Given the description of an element on the screen output the (x, y) to click on. 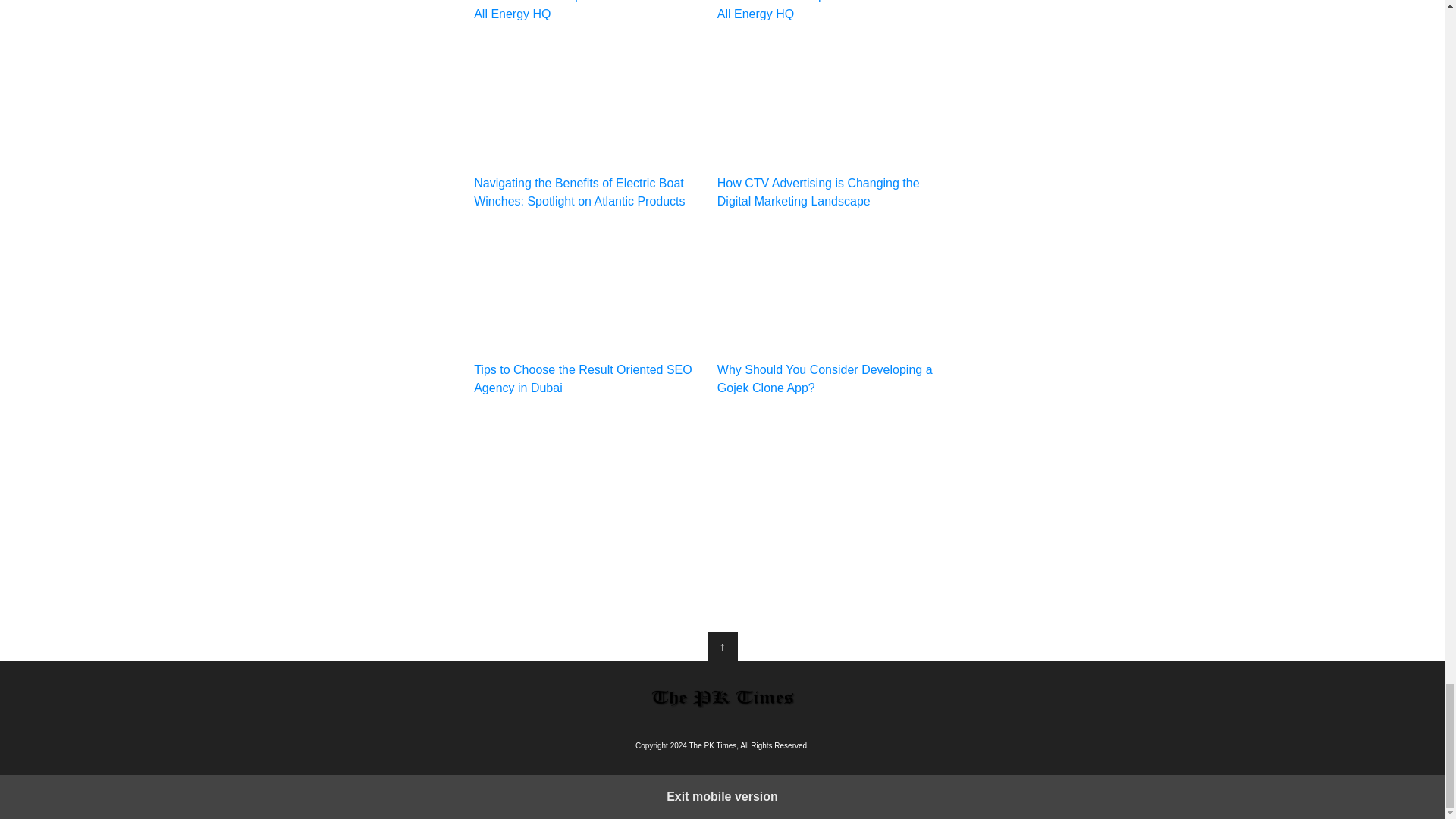
Why Should You Consider Developing a Gojek Clone App? (833, 310)
Meet the Team: Expert Solar Installers at All Energy HQ (833, 11)
Meet the Team: Expert Solar Installers at All Energy HQ (590, 11)
The PK Times (721, 698)
Tips to Choose the Result Oriented SEO Agency in Dubai (590, 310)
